Given the description of an element on the screen output the (x, y) to click on. 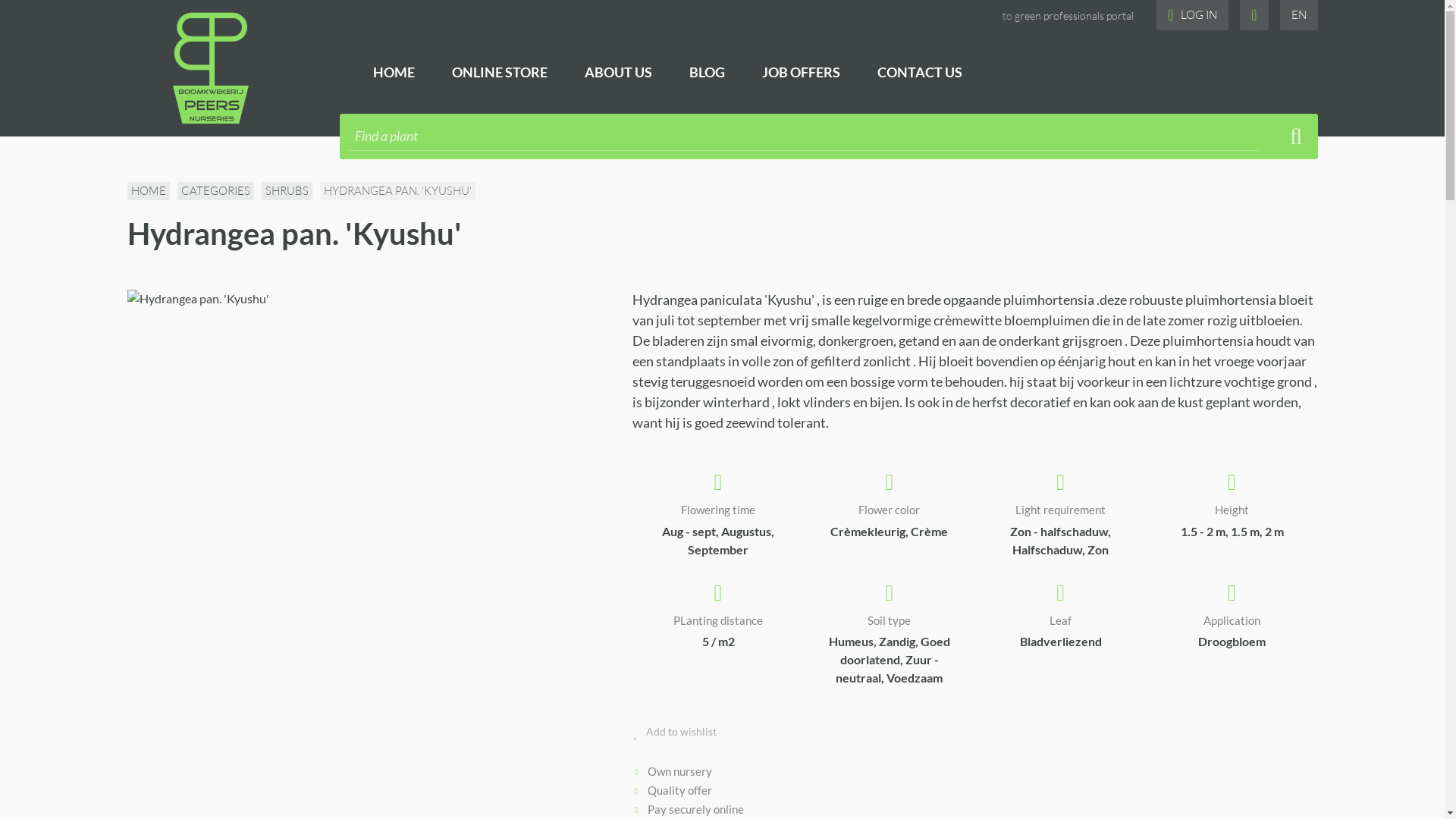
JOB OFFERS Element type: text (800, 71)
SHRUBS Element type: text (285, 191)
CONTACT US Element type: text (919, 71)
Add to wishlist Element type: text (674, 731)
CATEGORIES Element type: text (215, 191)
Search Element type: text (1296, 135)
BLOG Element type: text (706, 71)
to green professionals portal Element type: text (1067, 15)
LOG IN Element type: text (1192, 15)
HOME Element type: text (394, 71)
HOME Element type: text (148, 191)
EN Element type: text (1298, 15)
ABOUT US Element type: text (617, 71)
ONLINE STORE Element type: text (499, 71)
